Given the description of an element on the screen output the (x, y) to click on. 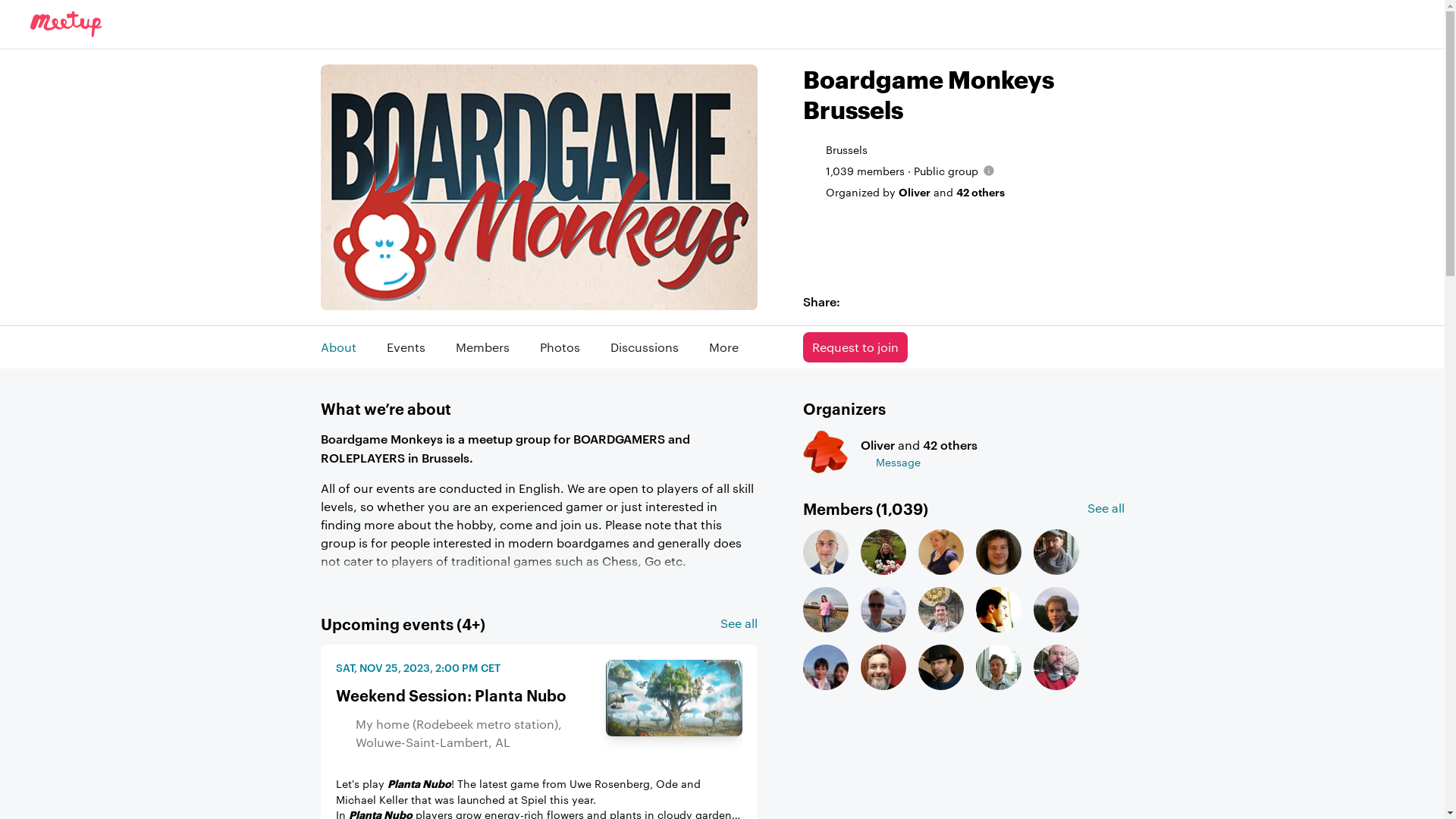
Discussions Element type: text (643, 347)
Email Element type: hover (950, 300)
Members Element type: text (481, 347)
See all Element type: text (1105, 507)
Message Element type: text (917, 460)
Twitter Element type: hover (902, 300)
Brussels Element type: text (845, 148)
Facebook Element type: hover (878, 300)
LinkedIn Element type: hover (926, 300)
Oliver Element type: hover (824, 451)
Nextdoor Element type: hover (853, 300)
More Element type: text (722, 347)
Request to join Element type: text (854, 347)
Organized by Oliver and 42 others Element type: text (914, 191)
Boardgame Monkeys Brussels Element type: text (962, 94)
See group members Element type: hover (962, 612)
Oliver and 42 others Element type: text (917, 444)
Events Element type: text (405, 347)
Photos Element type: text (559, 347)
Weekend Session: Planta Nubo Element type: hover (673, 697)
About Element type: text (337, 347)
Email Element type: hover (949, 300)
See all Element type: text (738, 623)
